Given the description of an element on the screen output the (x, y) to click on. 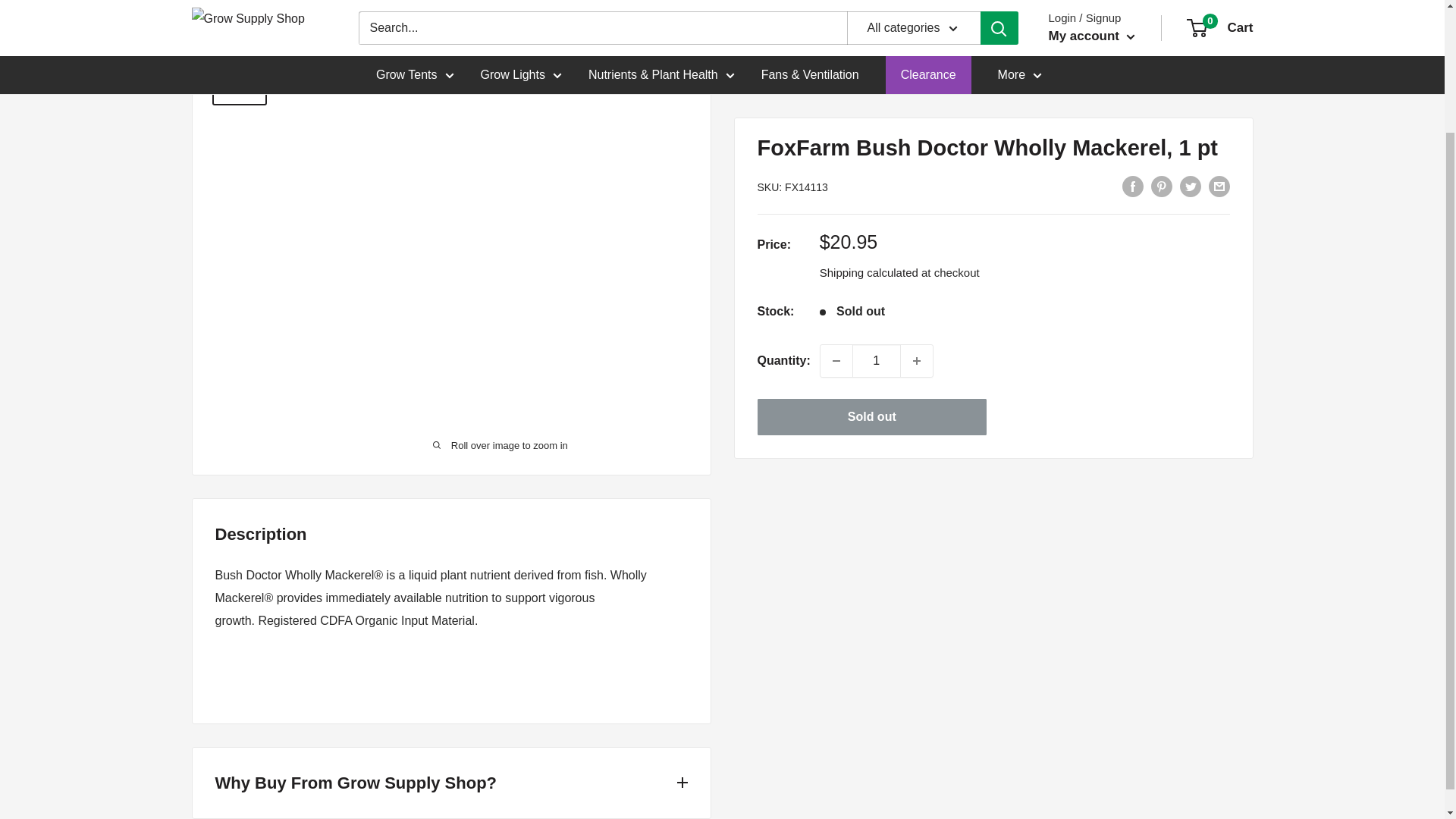
Decrease quantity by 1 (836, 273)
Increase quantity by 1 (917, 273)
1 (876, 273)
